Given the description of an element on the screen output the (x, y) to click on. 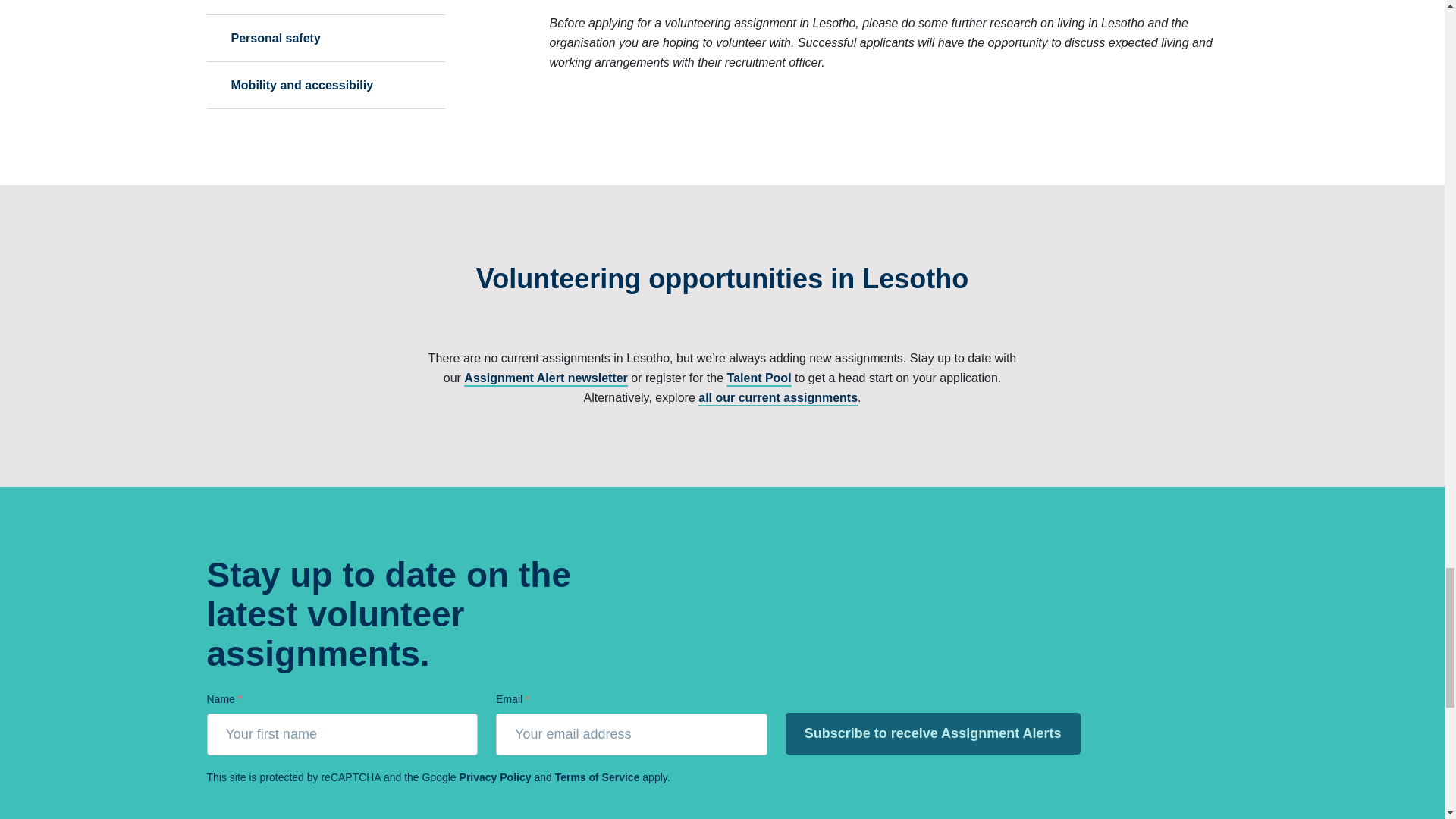
Assignment Alert newsletter (545, 377)
all our current assignments (777, 397)
Terms of Service (597, 776)
Talent Pool (759, 377)
Subscribe to receive Assignment Alerts (933, 733)
Privacy Policy (495, 776)
